Given the description of an element on the screen output the (x, y) to click on. 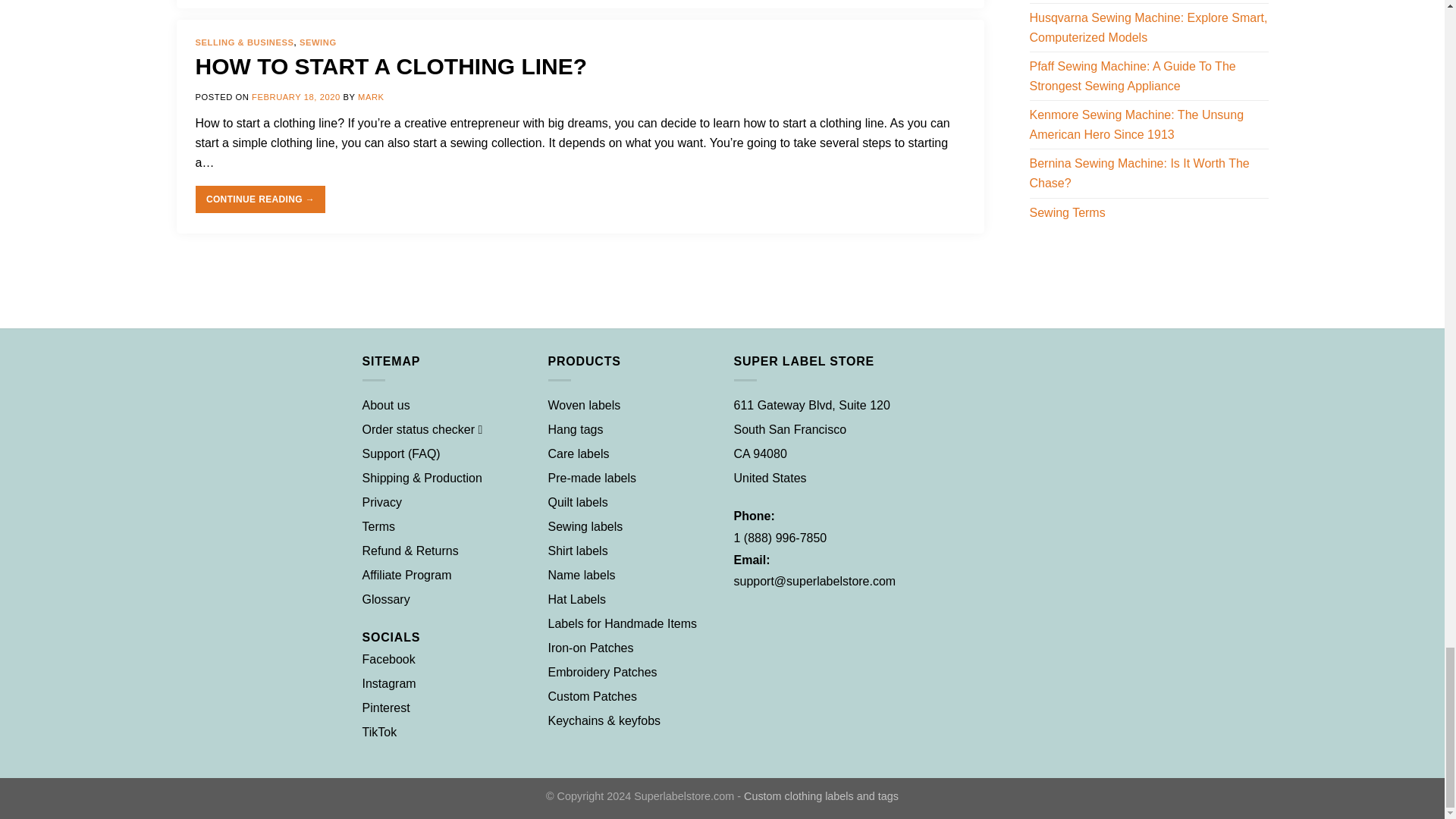
Custom clothing labels and tags (821, 796)
